Given the description of an element on the screen output the (x, y) to click on. 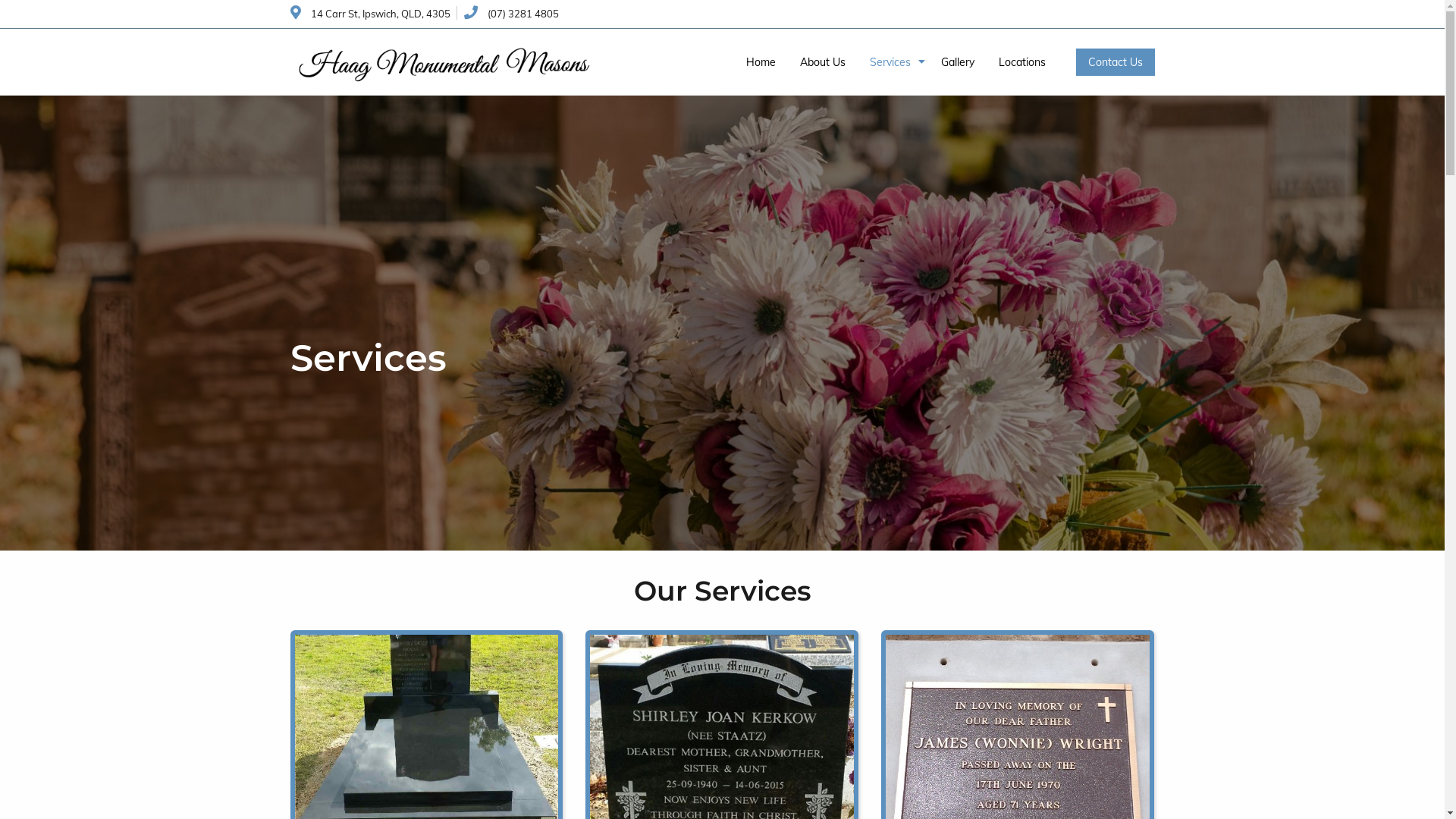
Services Element type: text (892, 61)
About Us Element type: text (821, 61)
(07) 3281 4805 Element type: text (511, 13)
Contact Us Element type: text (1114, 61)
14 Carr St, Ipswich, QLD, 4305 Element type: text (369, 13)
Gallery Element type: text (956, 61)
Locations Element type: text (1021, 61)
Home Element type: text (760, 61)
